Given the description of an element on the screen output the (x, y) to click on. 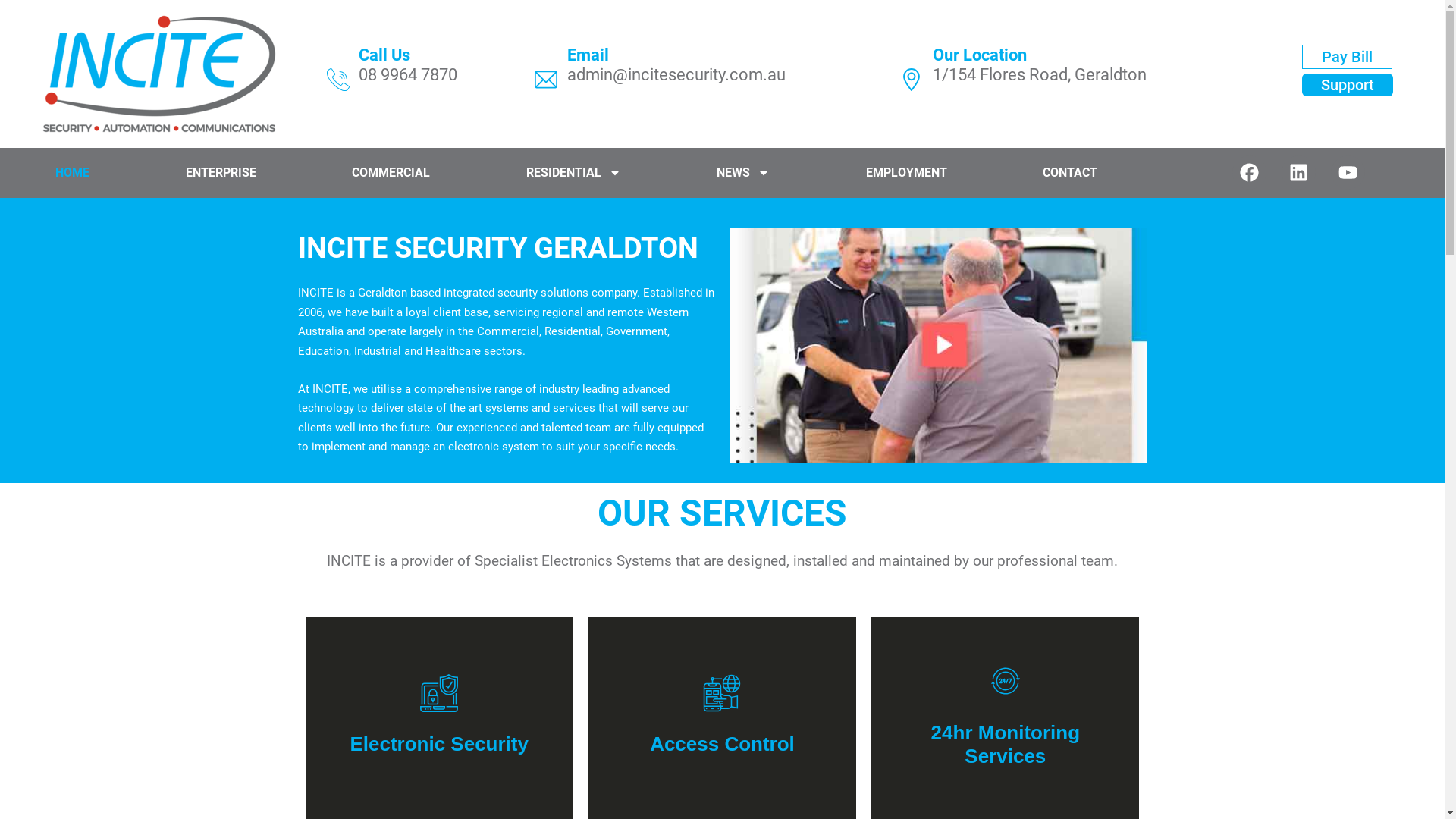
NEWS Element type: text (743, 172)
ENTERPRISE Element type: text (221, 172)
HOME Element type: text (72, 172)
Linkedin Element type: text (1298, 172)
Call Us
08 9964 7870 Element type: text (422, 79)
RESIDENTIAL Element type: text (573, 172)
CONTACT Element type: text (1069, 172)
Support Element type: text (1347, 83)
EMPLOYMENT Element type: text (906, 172)
COMMERCIAL Element type: text (391, 172)
Facebook Element type: text (1249, 172)
Youtube Element type: text (1347, 172)
Pay Bill Element type: text (1347, 55)
Email
admin@incitesecurity.com.au Element type: text (713, 79)
Our Location
1/154 Flores Road, Geraldton Element type: text (1075, 79)
